Given the description of an element on the screen output the (x, y) to click on. 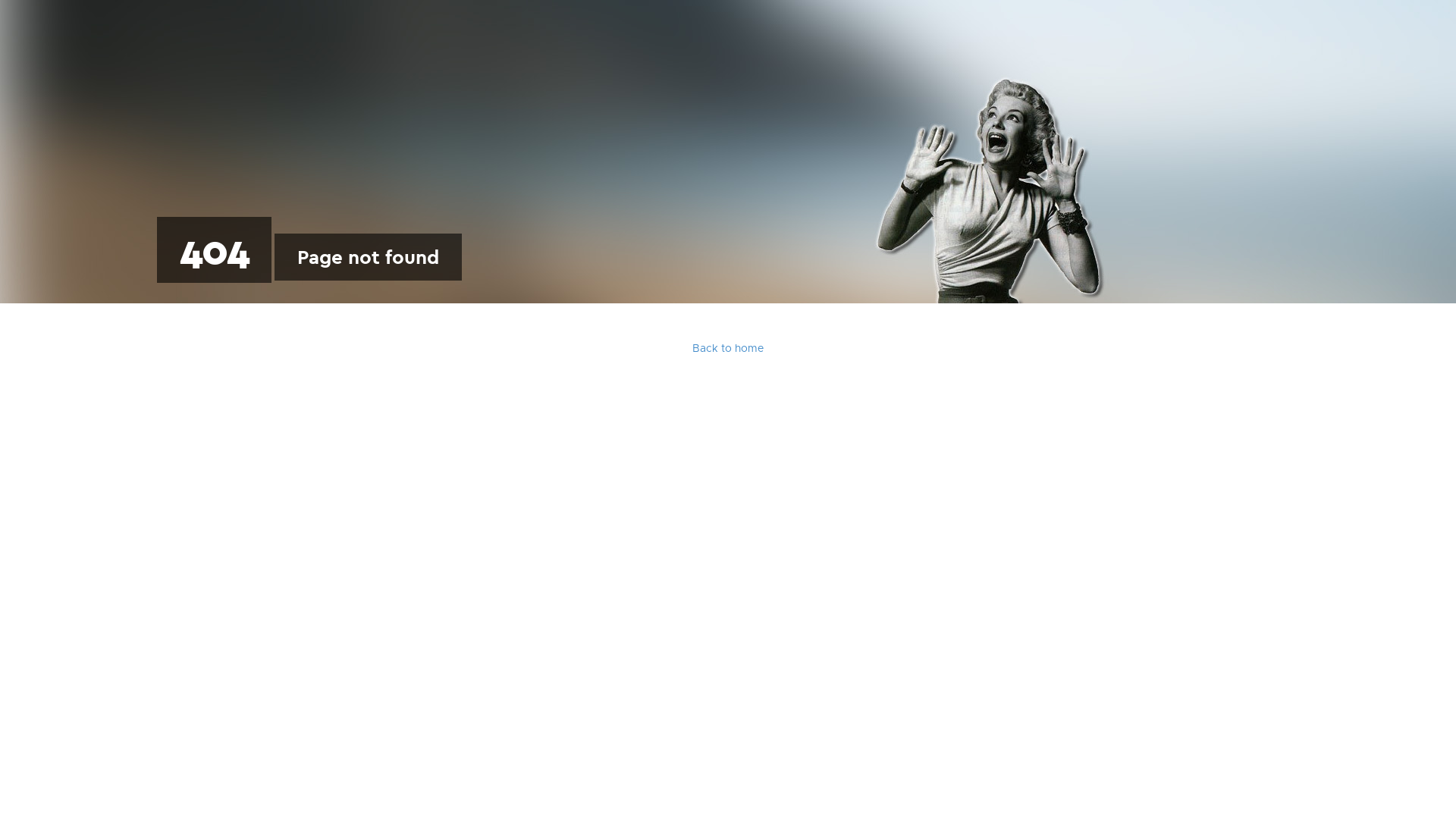
Back to home Element type: text (727, 348)
